Given the description of an element on the screen output the (x, y) to click on. 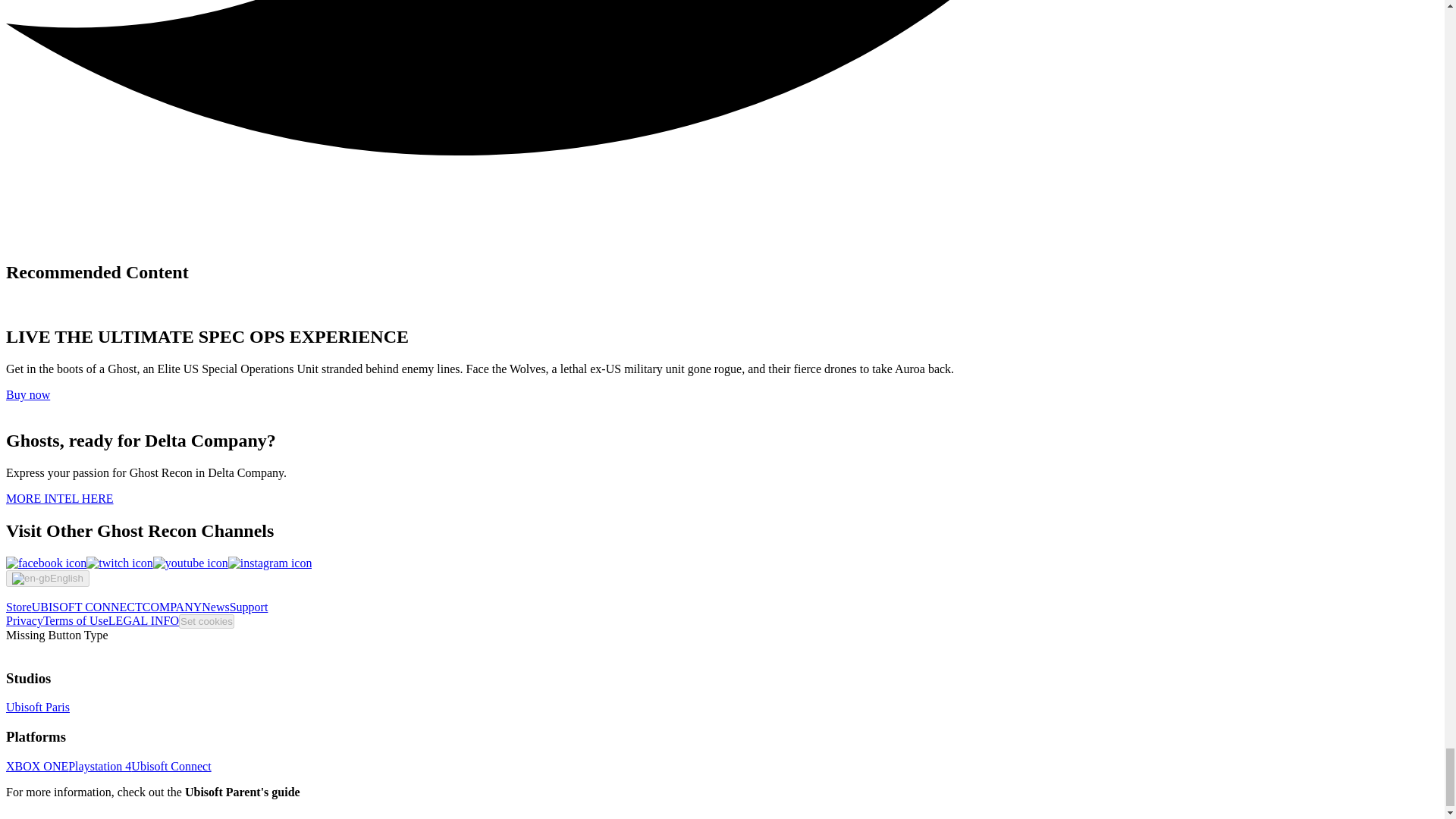
Ubisoft Paris (37, 707)
XBOX ONE (36, 766)
UBISOFT CONNECT (87, 606)
Ubisoft Connect (171, 766)
COMPANY (172, 606)
LEGAL INFO (143, 620)
Playstation 4 (99, 766)
Support (248, 606)
Set cookies (206, 621)
Terms of Use (75, 620)
Store (18, 606)
MORE INTEL HERE (59, 498)
English (46, 578)
Buy now (27, 394)
Privacy (24, 620)
